Given the description of an element on the screen output the (x, y) to click on. 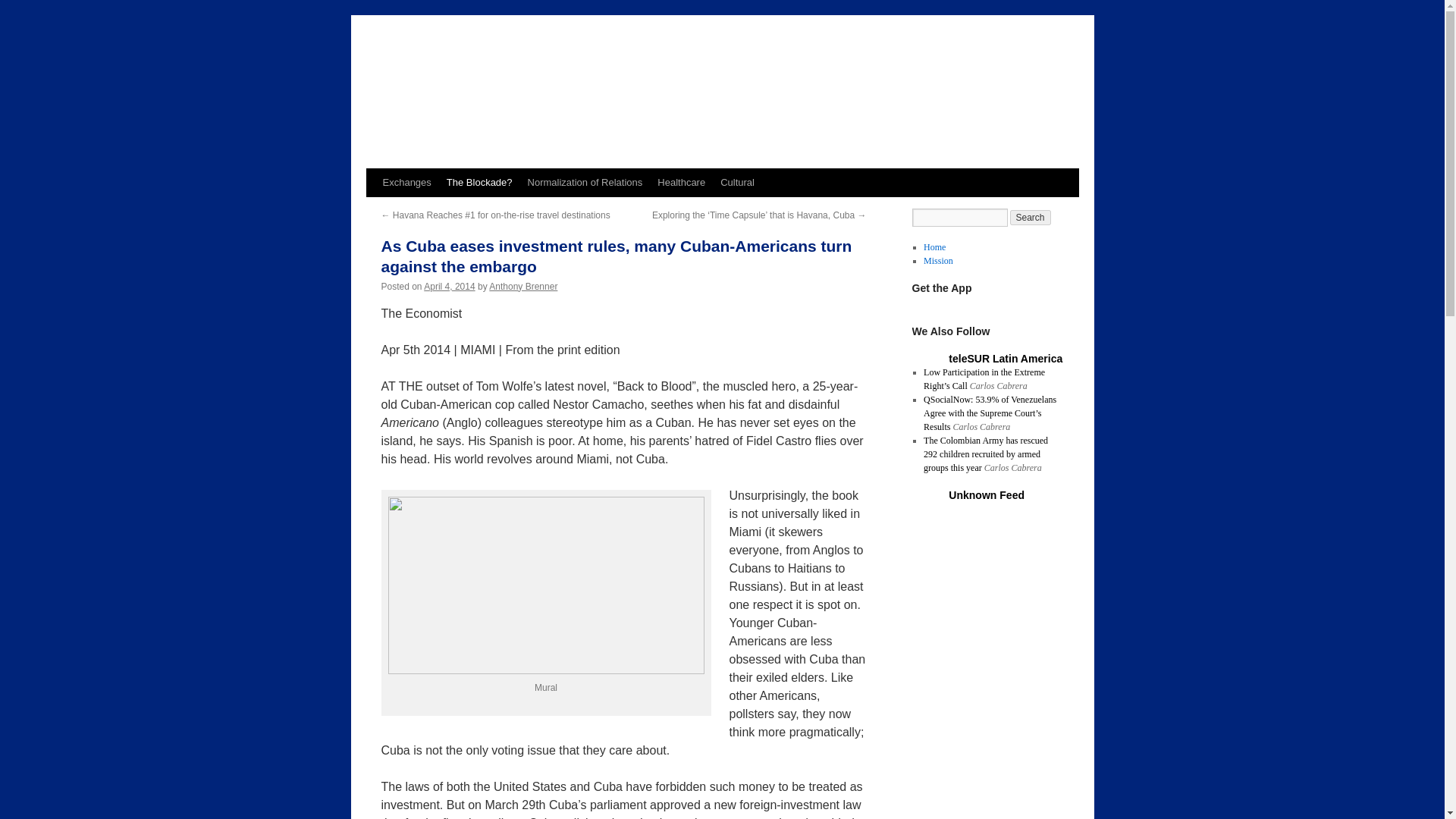
Search (1030, 217)
Mission (938, 260)
11:04 am (448, 286)
The Blockade? (479, 182)
Cultural (737, 182)
April 4, 2014 (448, 286)
Normalization of Relations (584, 182)
Anthony Brenner (523, 286)
Unknown Feed (987, 494)
